Given the description of an element on the screen output the (x, y) to click on. 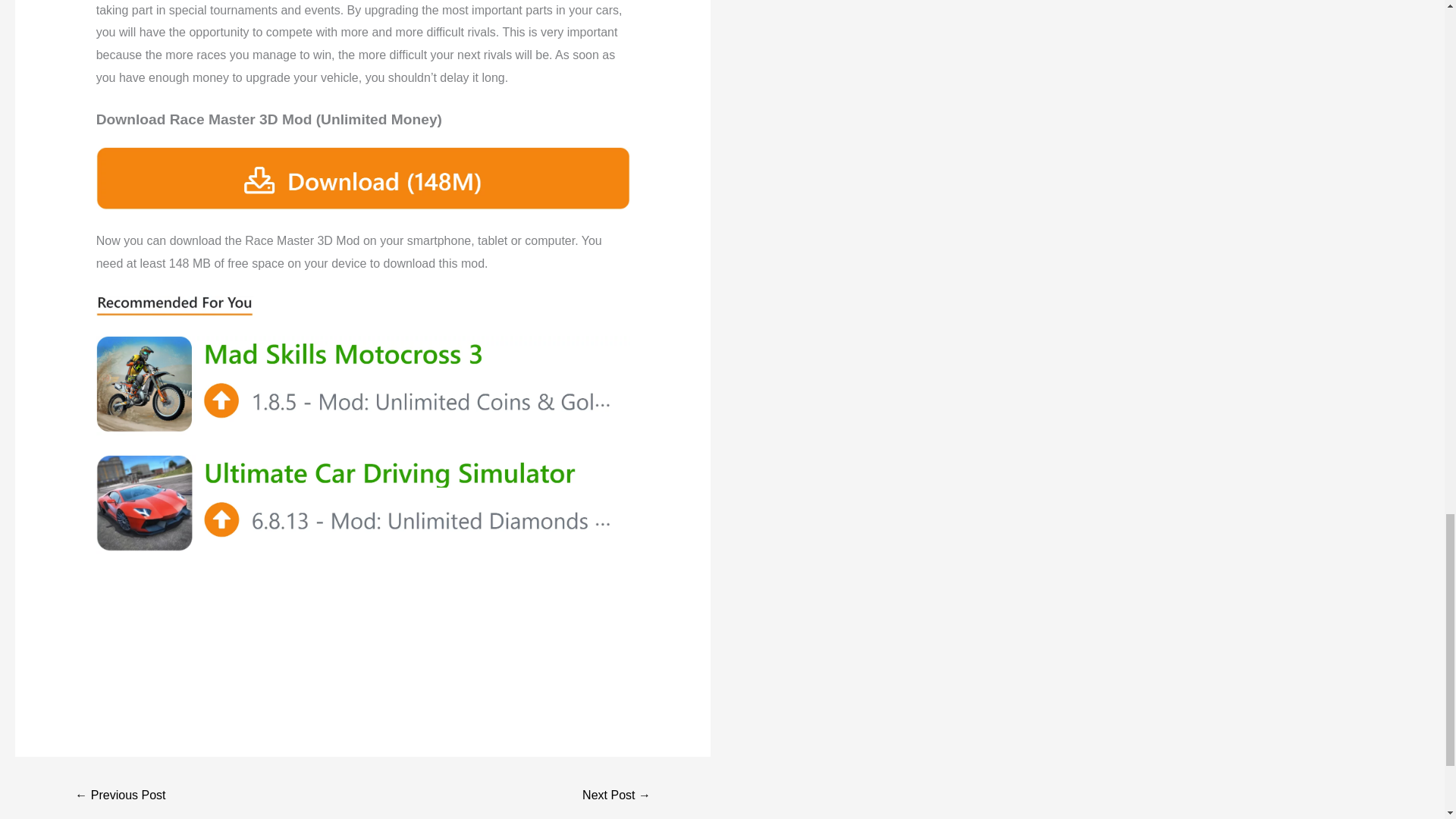
Sonic Dash Mod with Unlimited Gems, Rings and Red Star Rings (616, 796)
